Given the description of an element on the screen output the (x, y) to click on. 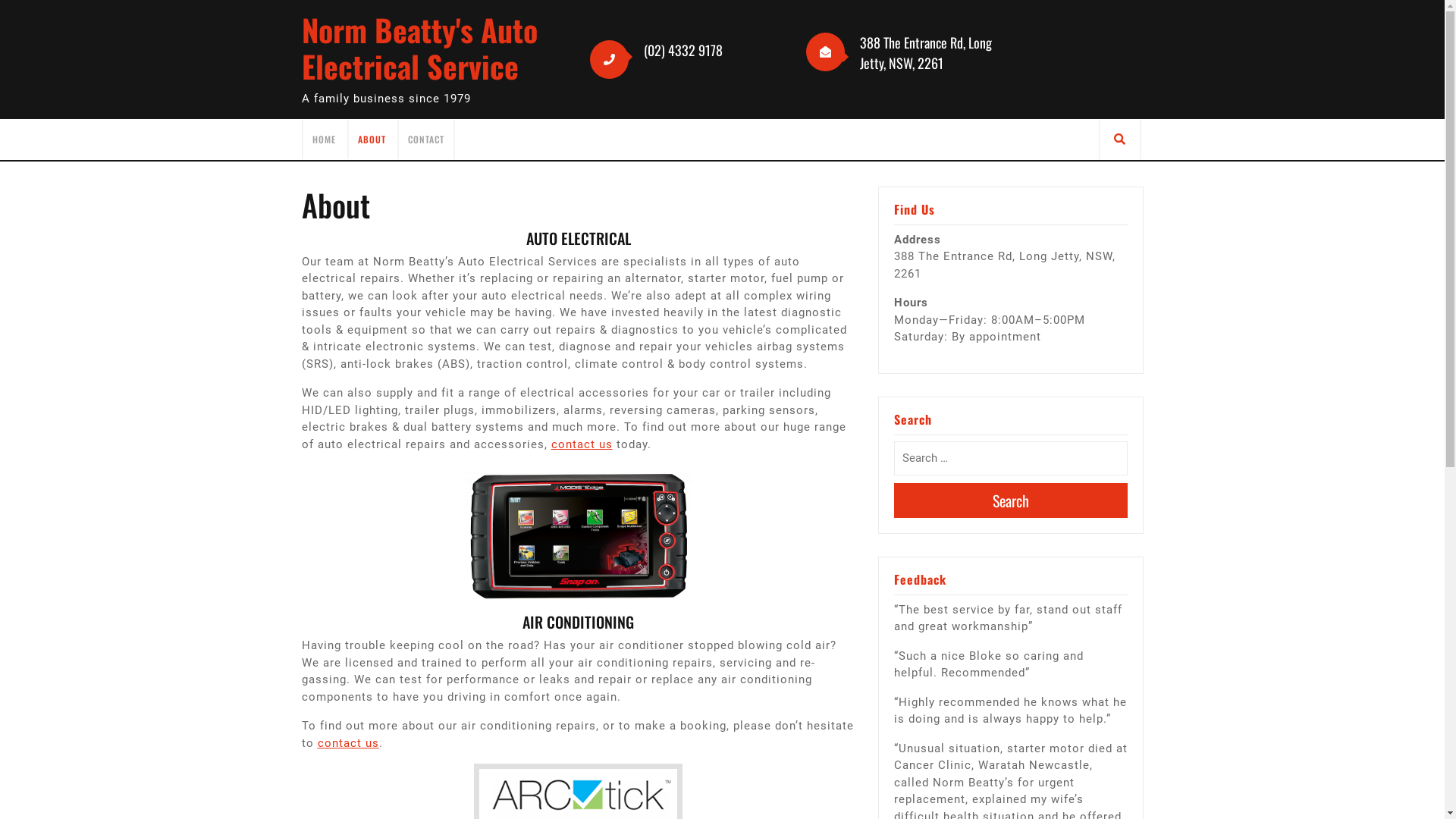
Norm Beatty's Auto Electrical Service Element type: text (419, 47)
contact us Element type: text (580, 444)
ABOUT Element type: text (371, 138)
CONTACT Element type: text (425, 138)
contact us Element type: text (347, 742)
HOME Element type: text (323, 138)
Search Element type: text (1009, 500)
